Given the description of an element on the screen output the (x, y) to click on. 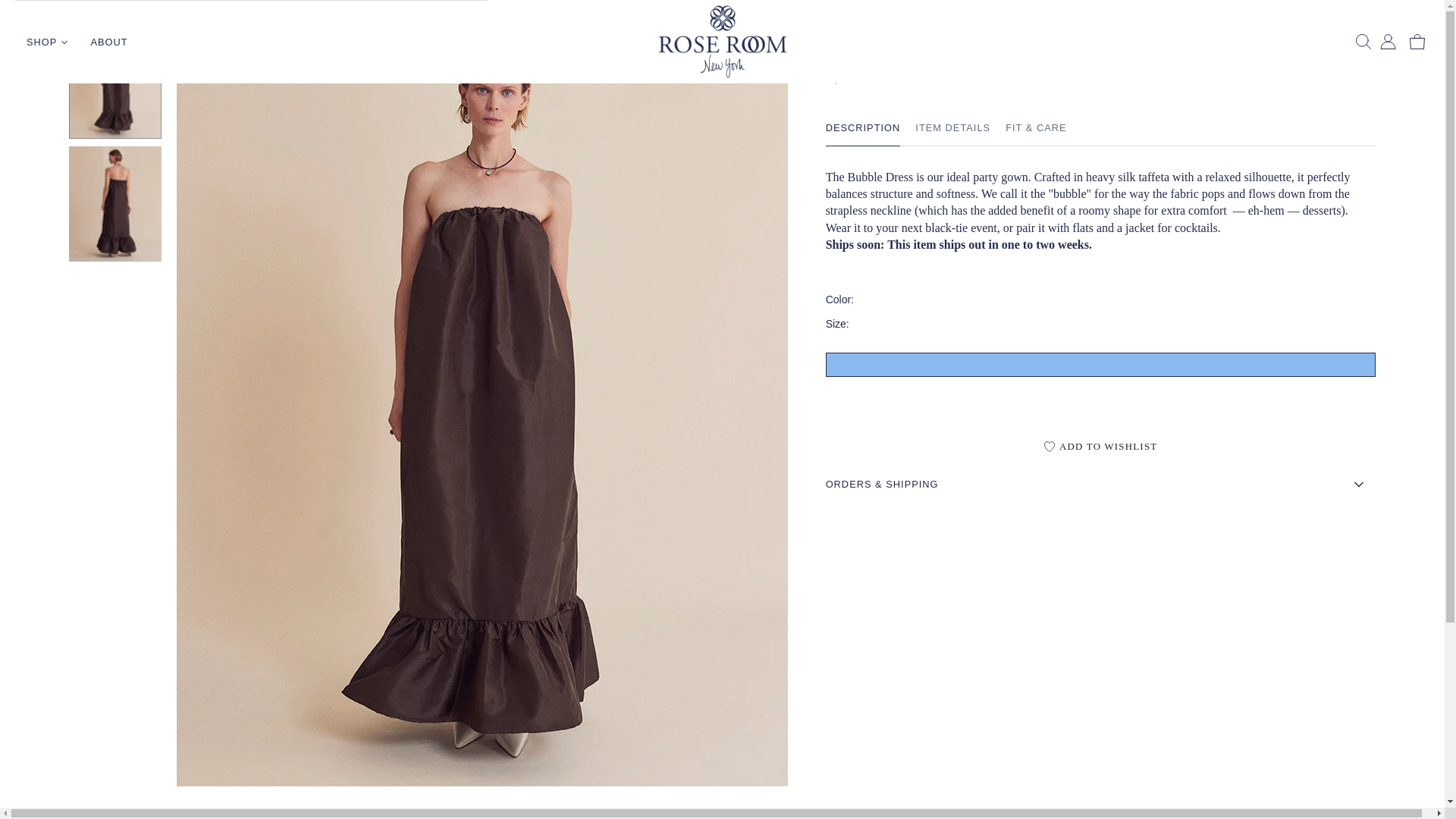
Add to Wishlist (1100, 447)
ABOUT (108, 42)
